Given the description of an element on the screen output the (x, y) to click on. 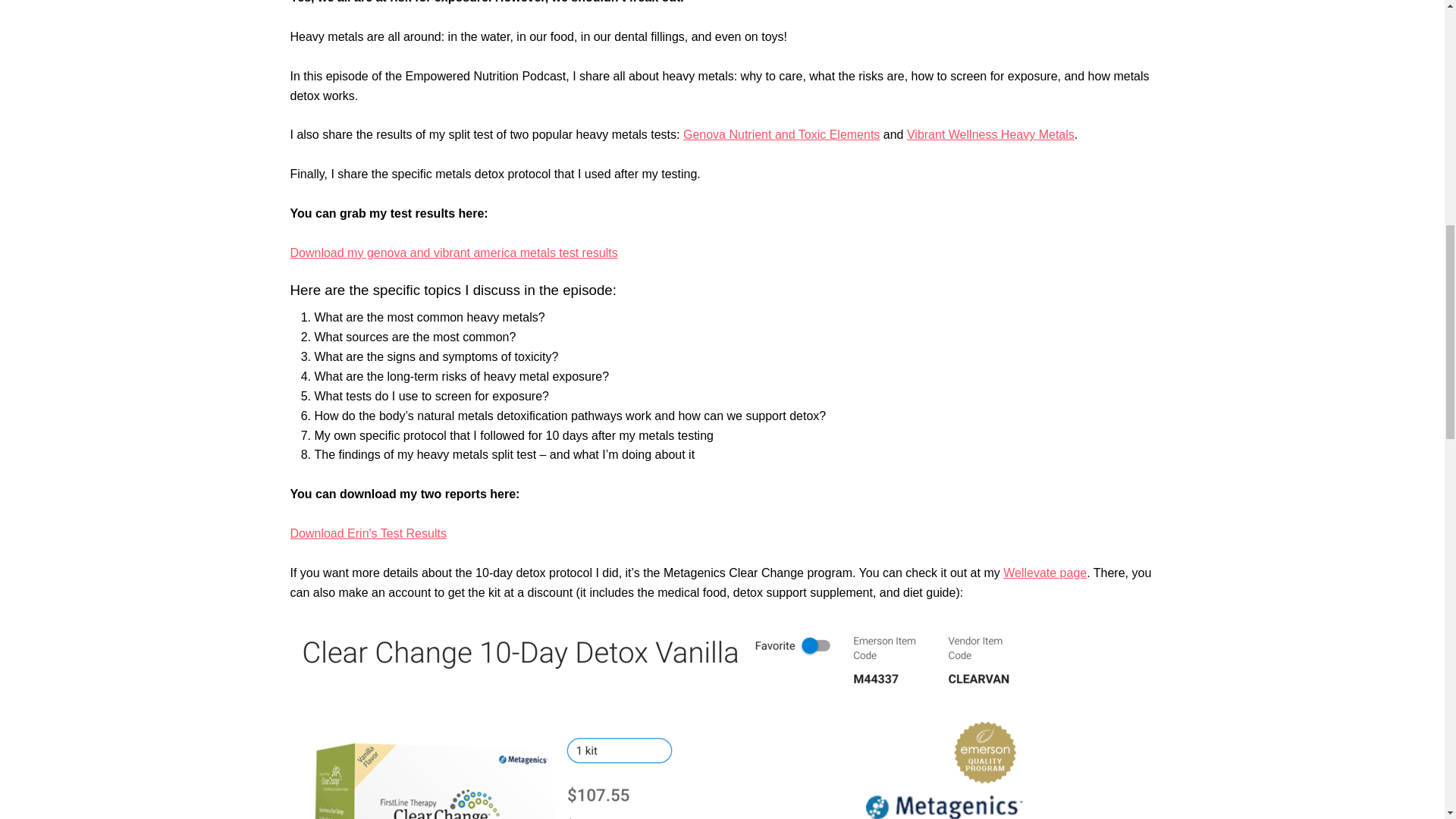
Download Erin's Test Results (367, 533)
Download my genova and vibrant america metals test results (453, 252)
Vibrant Wellness Heavy Metals (990, 133)
Genova Nutrient and Toxic Elements (780, 133)
Wellevate page (1044, 572)
